Given the description of an element on the screen output the (x, y) to click on. 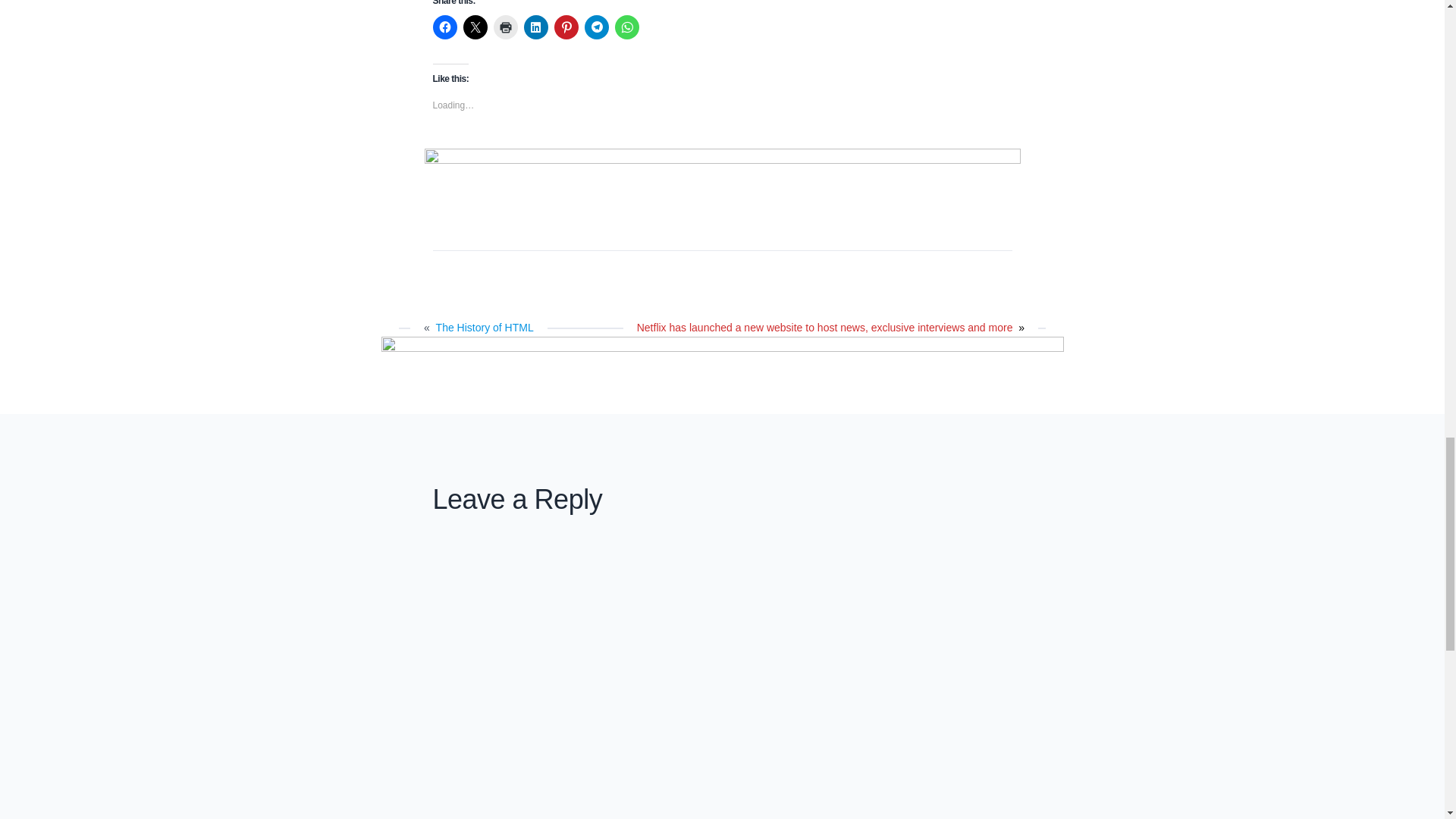
Click to share on Facebook (444, 27)
Click to share on LinkedIn (534, 27)
Click to share on Telegram (595, 27)
Click to share on X (474, 27)
Click to print (504, 27)
Click to share on Pinterest (565, 27)
The History of HTML (484, 327)
Click to share on WhatsApp (626, 27)
